Given the description of an element on the screen output the (x, y) to click on. 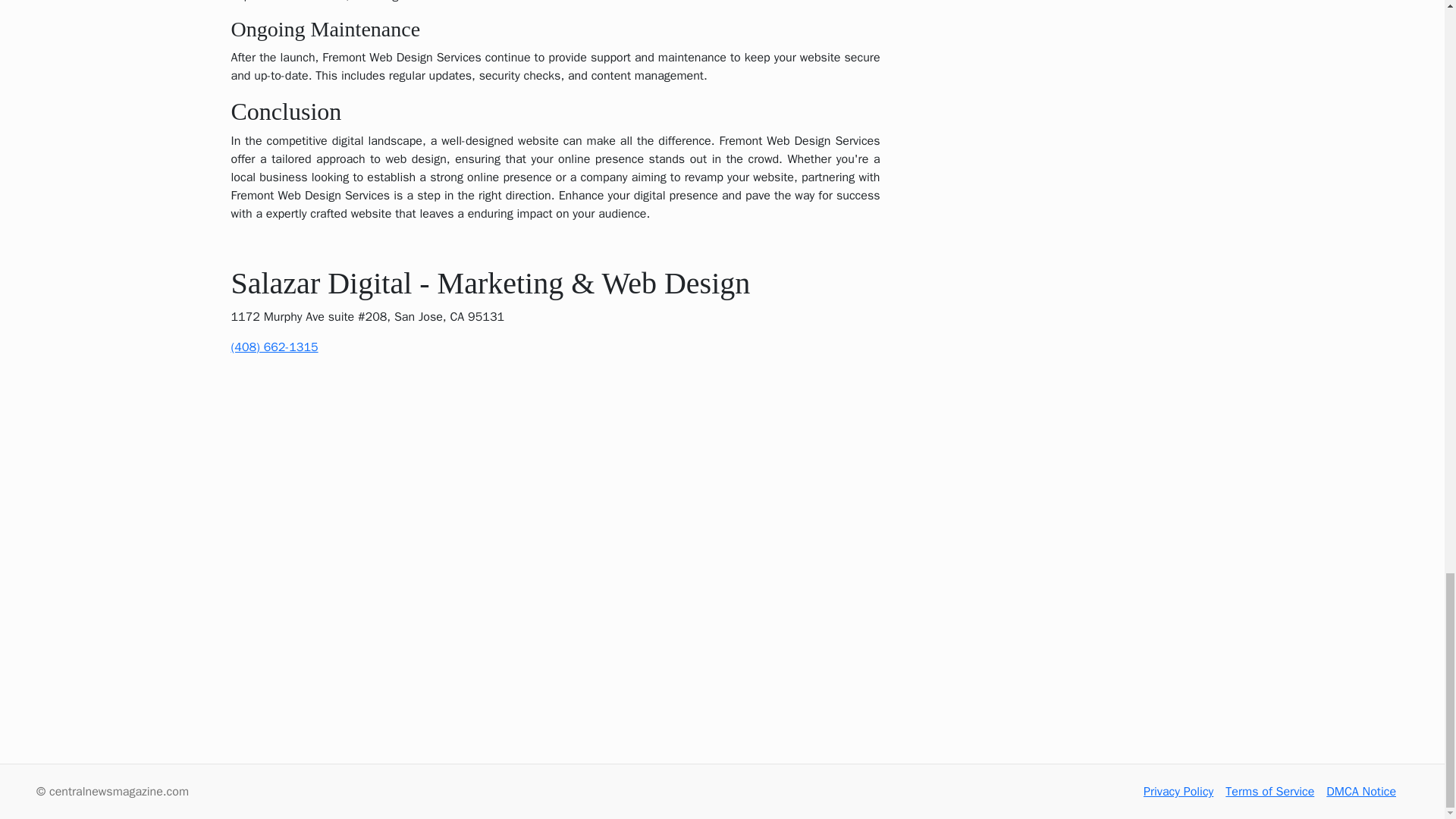
DMCA Notice (1361, 791)
Privacy Policy (1177, 791)
Terms of Service (1269, 791)
